Given the description of an element on the screen output the (x, y) to click on. 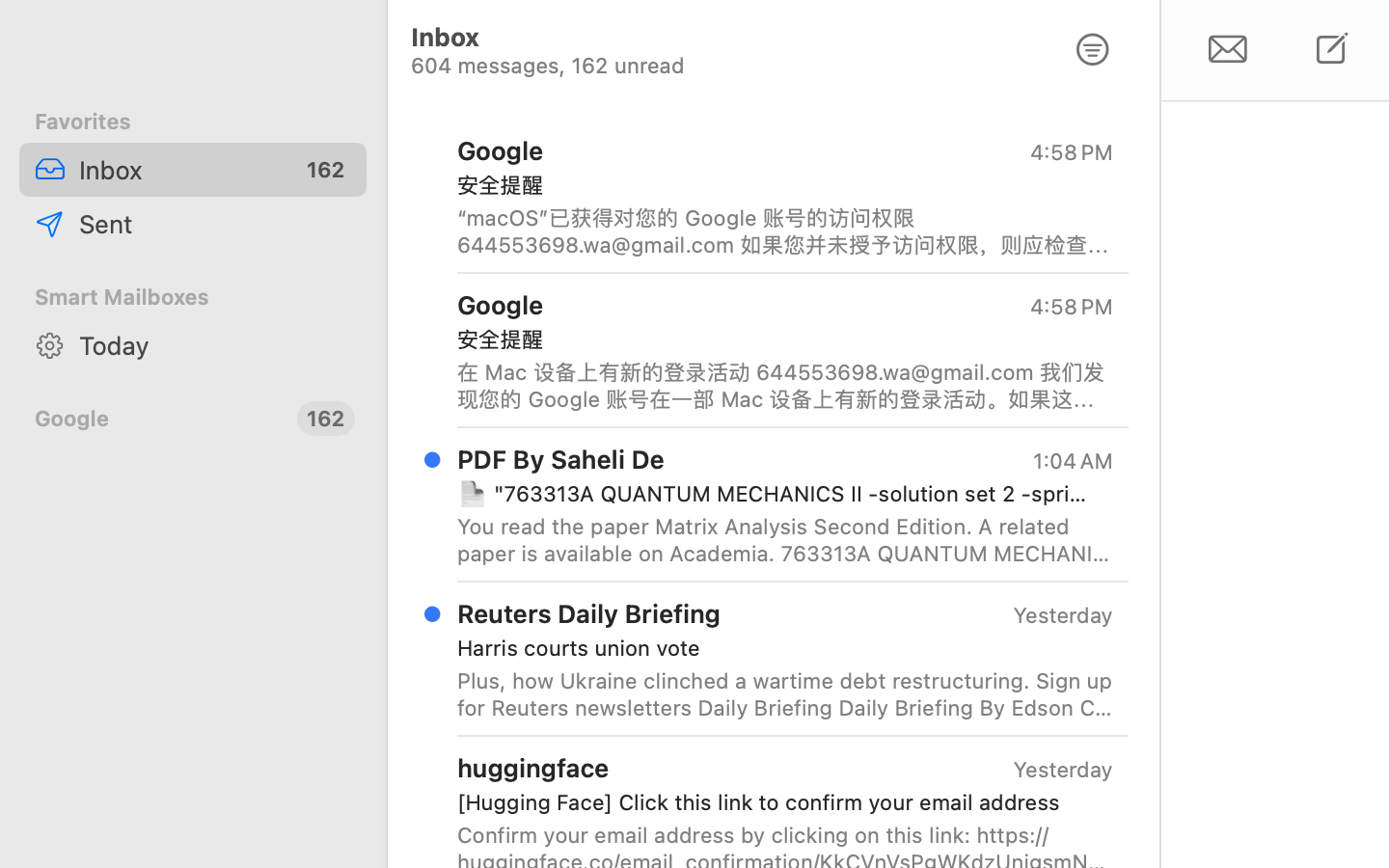
Today Element type: AXTextField (214, 344)
在 Mac 设备上有新的登录活动 644553698.wa@gmail.com 我们发现您的 Google 账号在一部 Mac 设备上有新的登录活动。如果这是您本人的操作，那么您无需采取任何行动。如果这不是您本人的操作，我们会帮助您保护您的账号。 查看活动 您也可以访问以下网址查看安全性活动： https://myaccount.google.com/notifications 我们向您发送这封电子邮件，目的是让您了解关于您的 Google 账号和服务的重大变化。 © 2024 Google LLC, 1600 Amphitheatre Parkway, Mountain View, CA 94043, USA Element type: AXStaticText (784, 385)
